Given the description of an element on the screen output the (x, y) to click on. 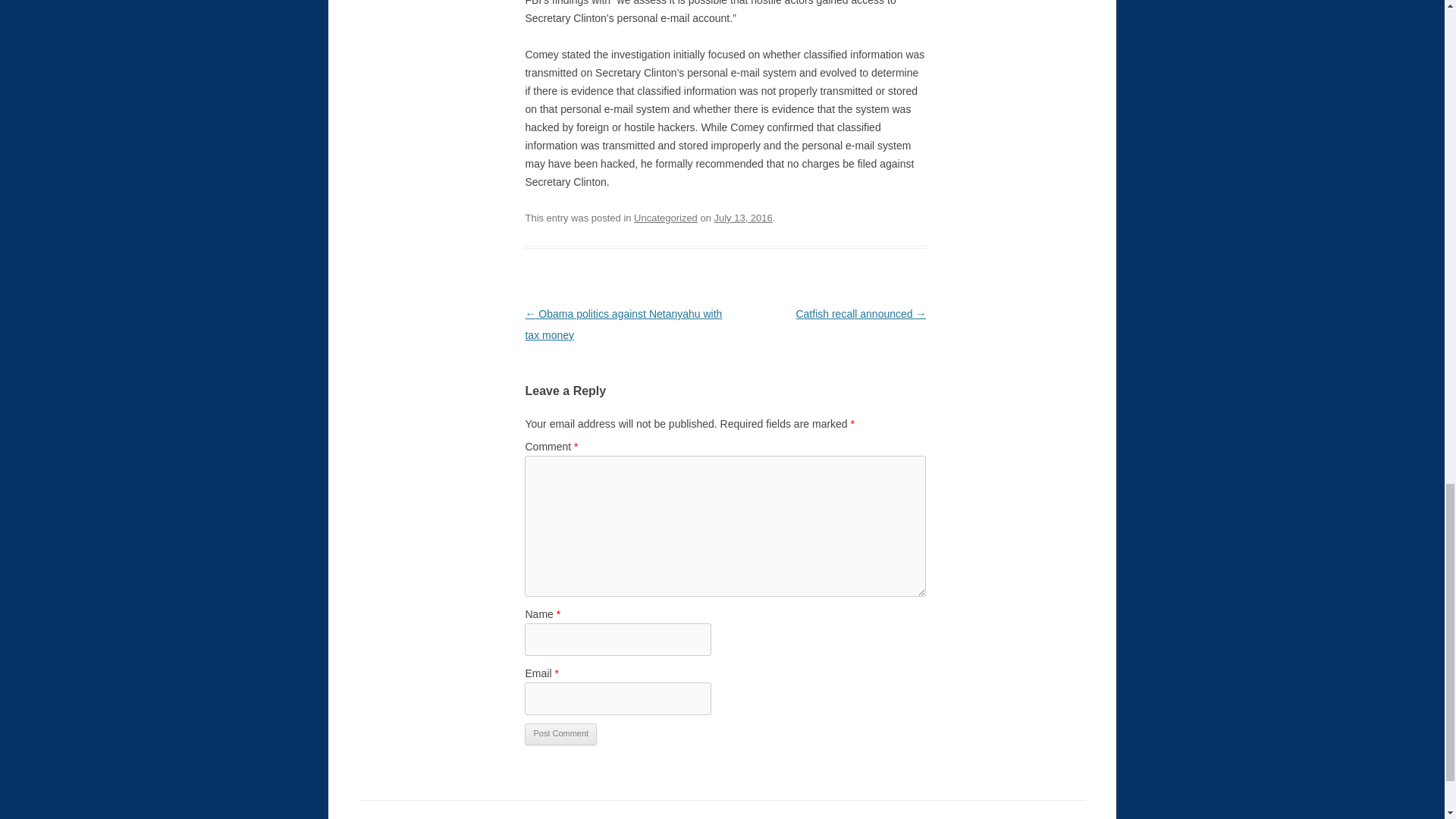
Uncategorized (665, 217)
Post Comment (560, 734)
Post Comment (560, 734)
July 13, 2016 (743, 217)
2:39 pm (743, 217)
